Given the description of an element on the screen output the (x, y) to click on. 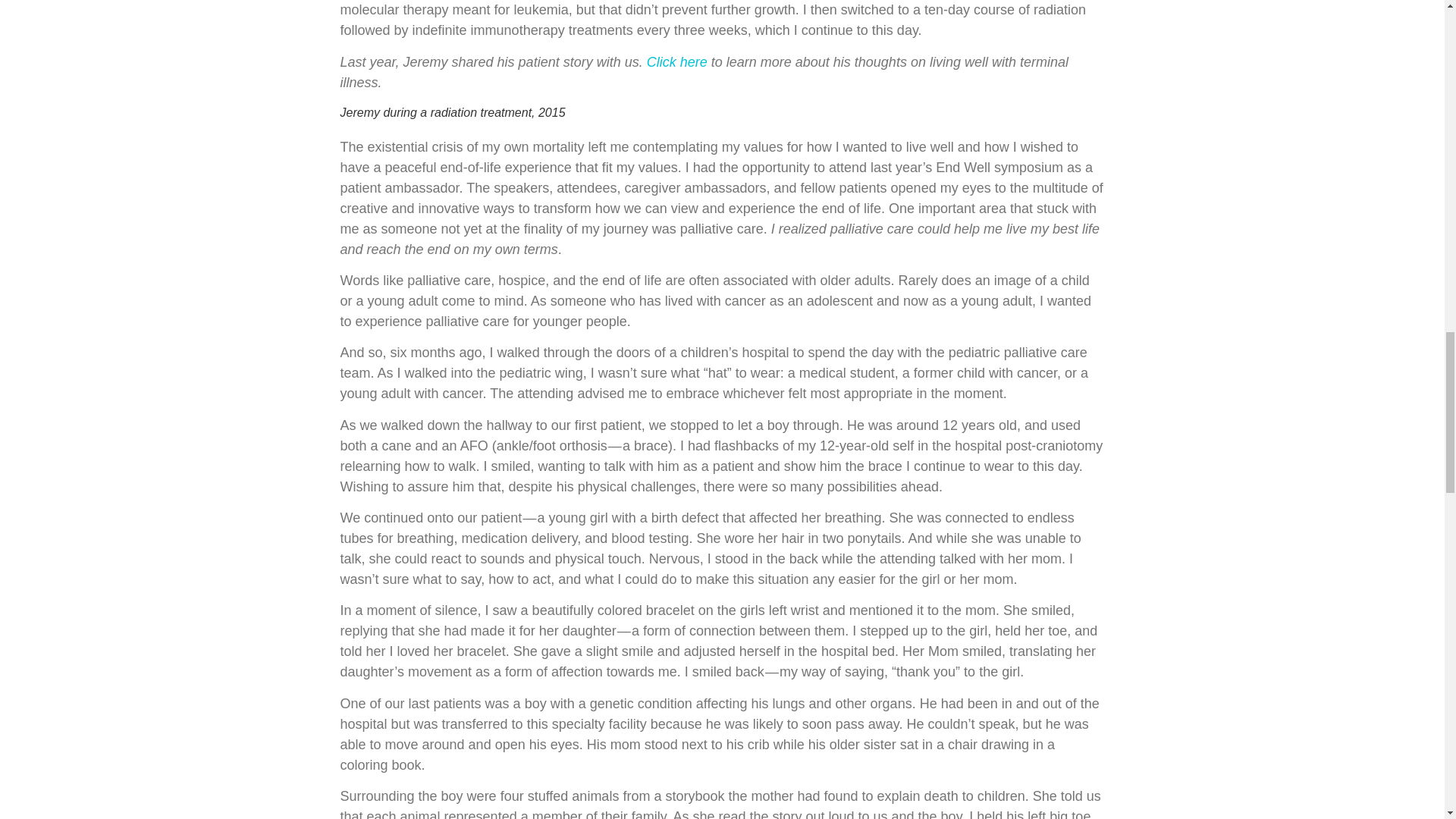
Click here (676, 61)
